Given the description of an element on the screen output the (x, y) to click on. 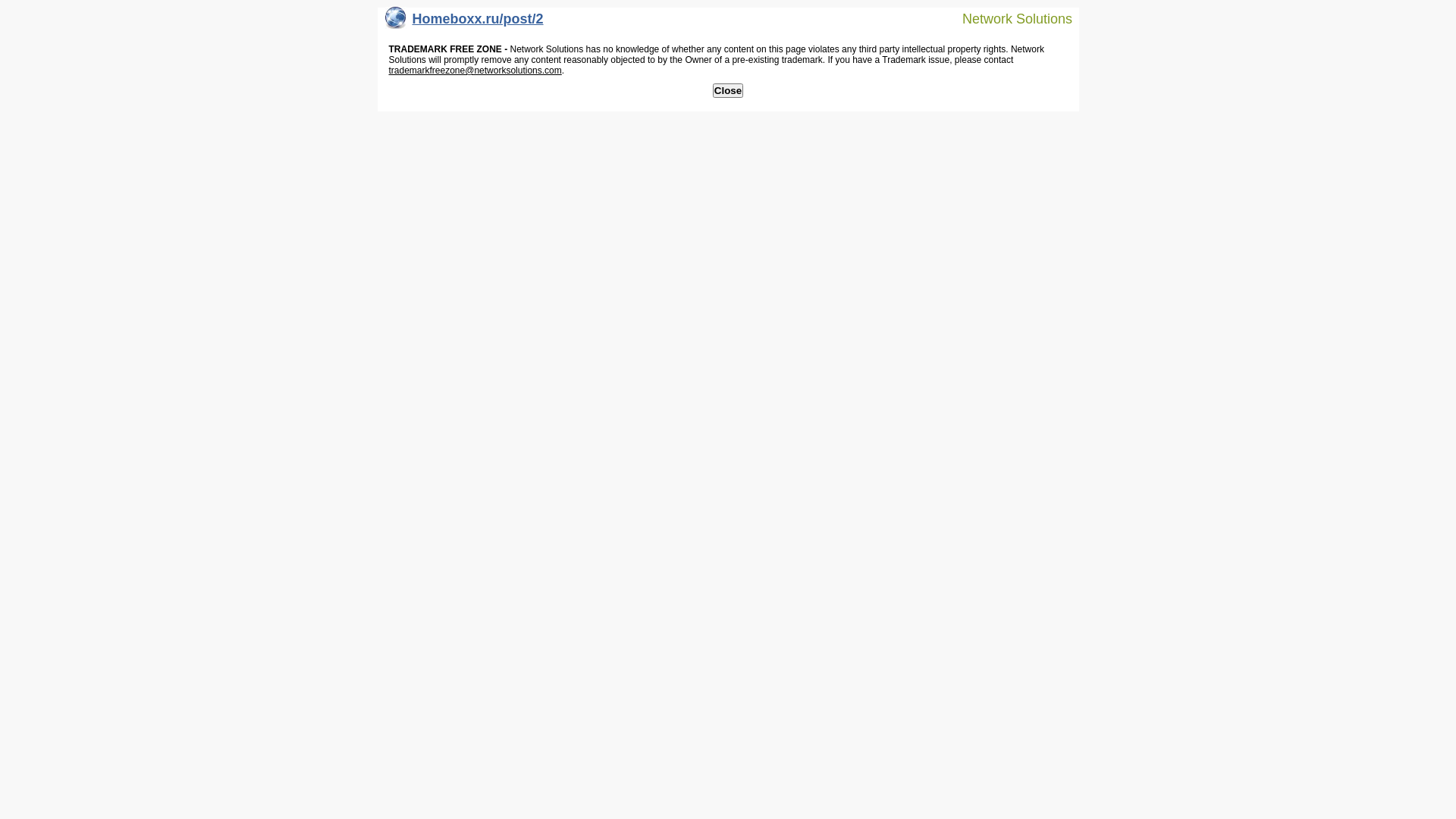
Homeboxx.ru/post/2 Element type: text (464, 21)
trademarkfreezone@networksolutions.com Element type: text (474, 70)
Network Solutions Element type: text (1007, 17)
Close Element type: text (727, 90)
